Given the description of an element on the screen output the (x, y) to click on. 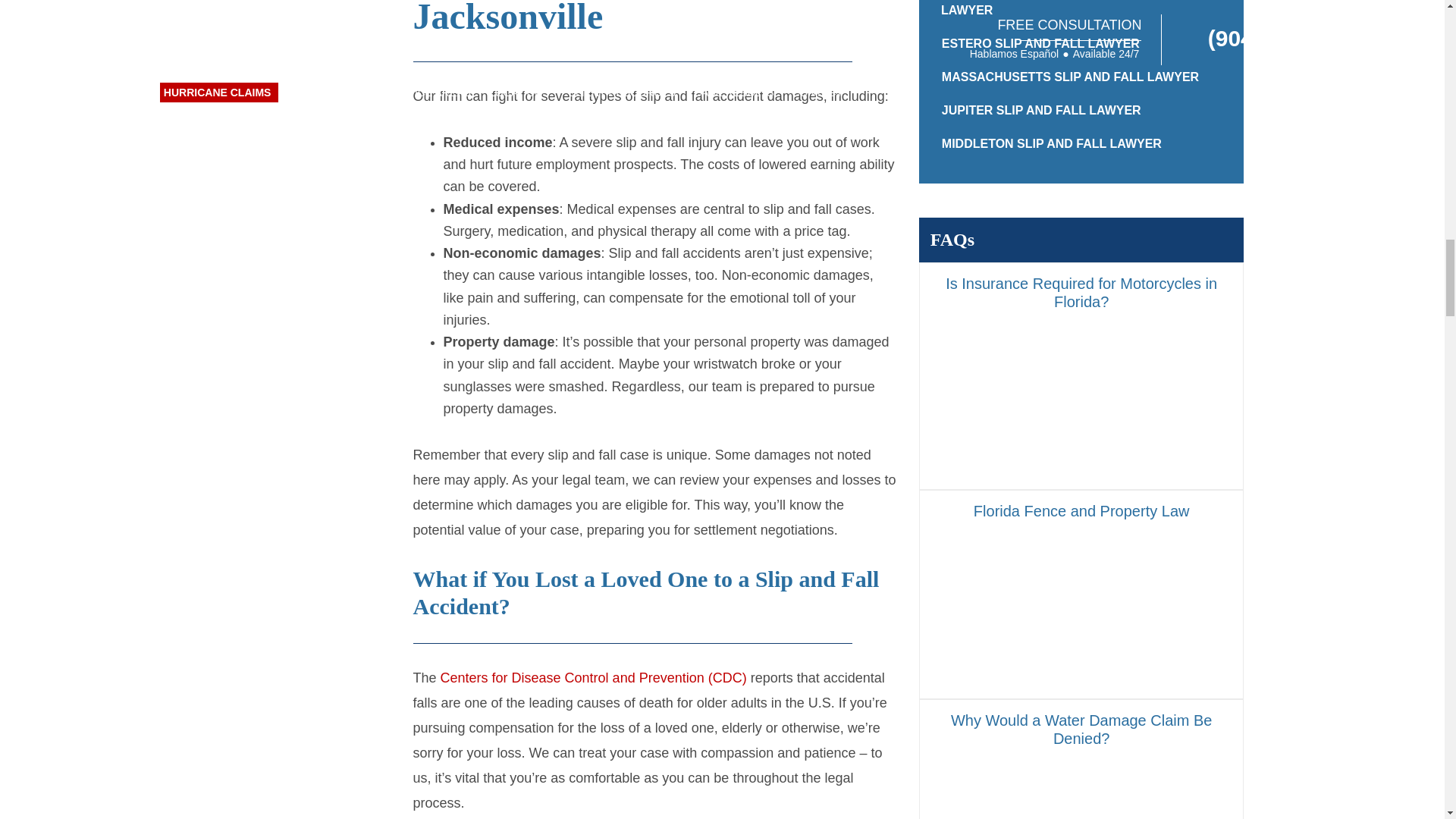
Is Insurance Required for Motorcycles in Florida? (1081, 375)
Why Would a Water Damage Claim Be Denied? (1081, 759)
Florida Fence and Property Law (1081, 614)
Is Insurance Required for Motorcycles in Florida? (1081, 405)
Florida Fence and Property Law (1081, 594)
